Given the description of an element on the screen output the (x, y) to click on. 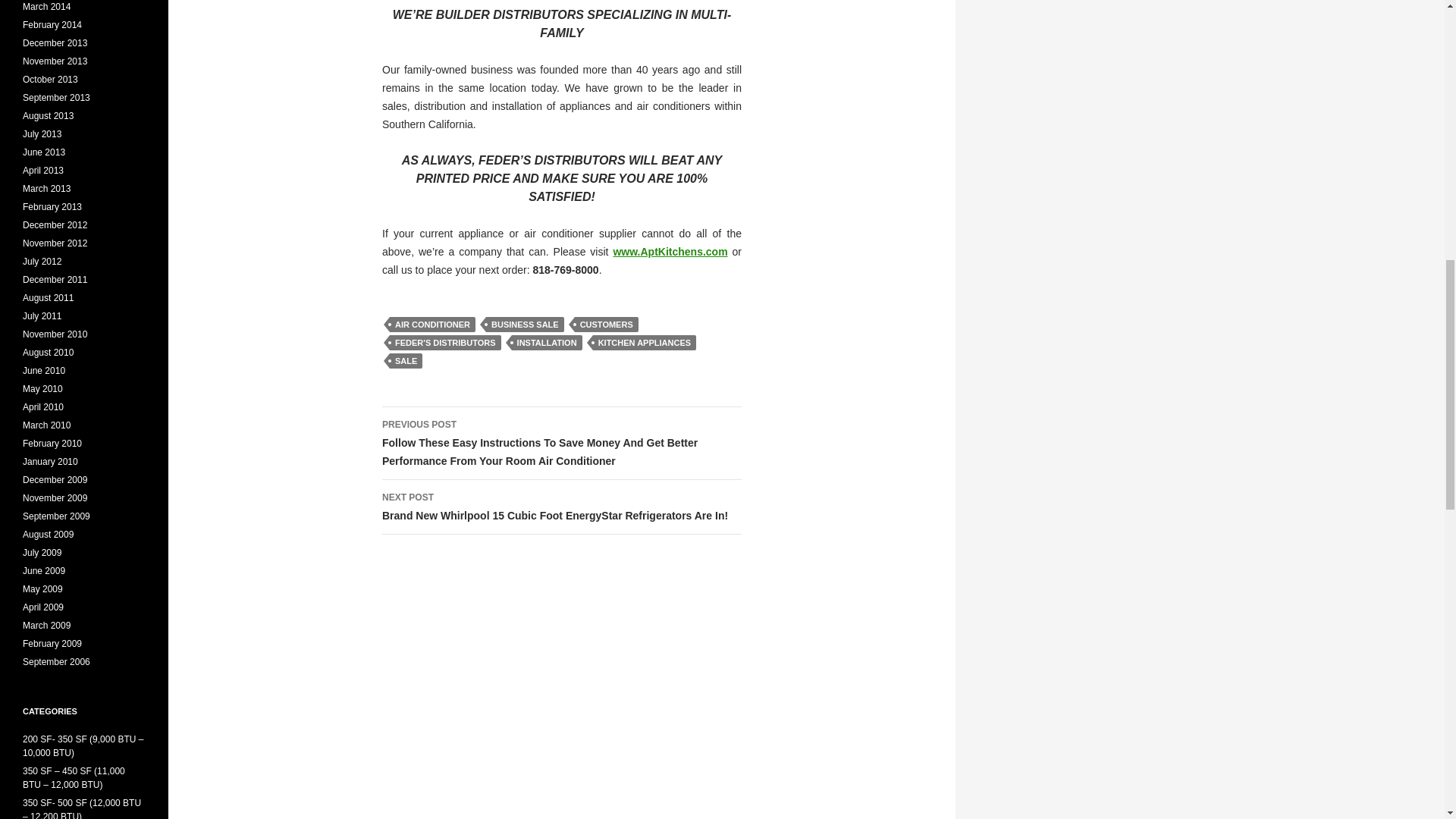
www.AptKitchens.com (669, 251)
KITCHEN APPLIANCES (643, 342)
SALE (406, 360)
FEDER'S DISTRIBUTORS (445, 342)
BUSINESS SALE (525, 324)
CUSTOMERS (607, 324)
AIR CONDITIONER (433, 324)
INSTALLATION (547, 342)
